Given the description of an element on the screen output the (x, y) to click on. 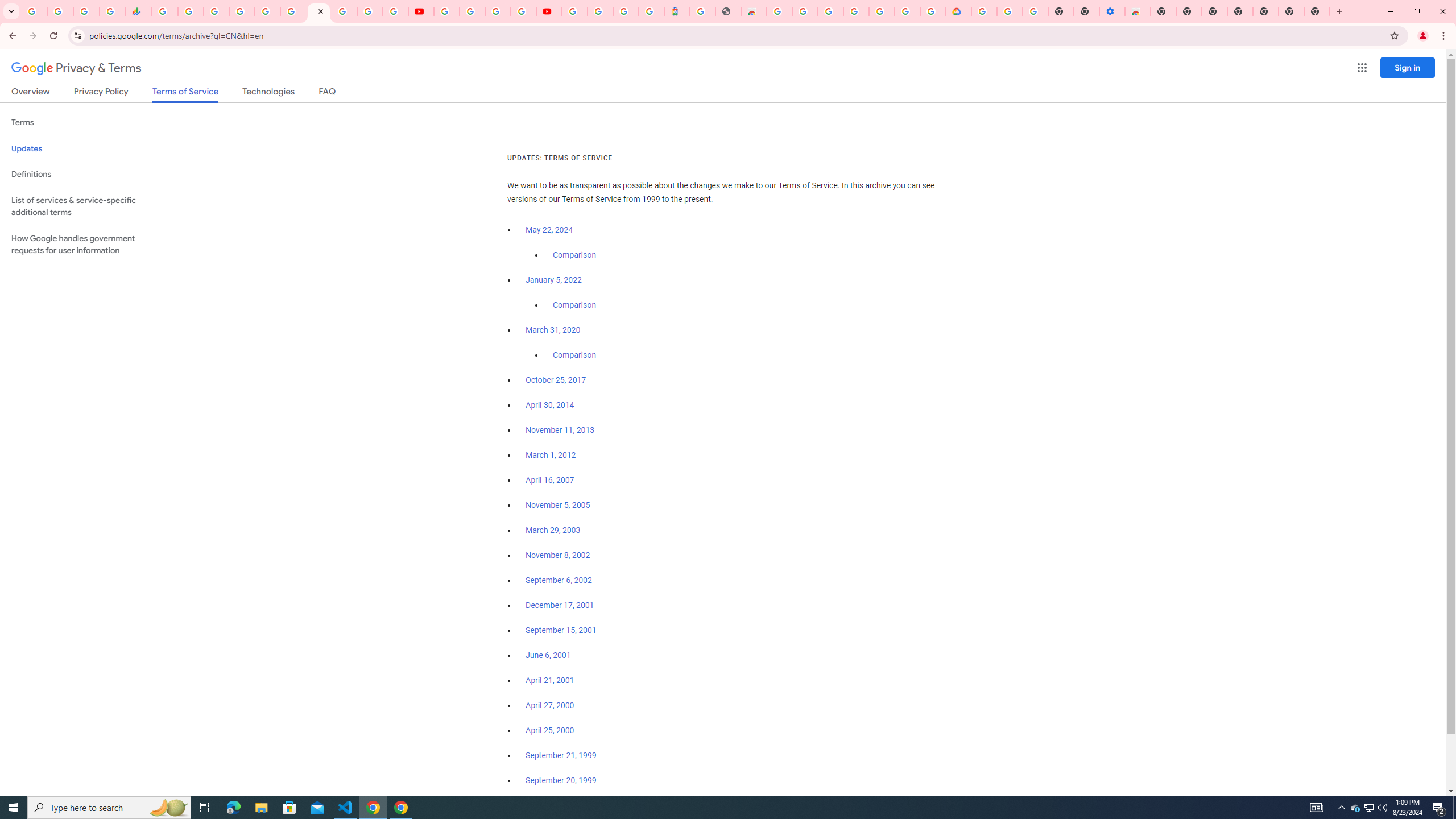
Terms (86, 122)
Ad Settings (804, 11)
Terms of Service (184, 94)
April 25, 2000 (550, 729)
November 8, 2002 (557, 555)
Turn cookies on or off - Computer - Google Account Help (1034, 11)
Google Account Help (472, 11)
Comparison (574, 355)
Sign in - Google Accounts (242, 11)
Sign in - Google Accounts (907, 11)
